Given the description of an element on the screen output the (x, y) to click on. 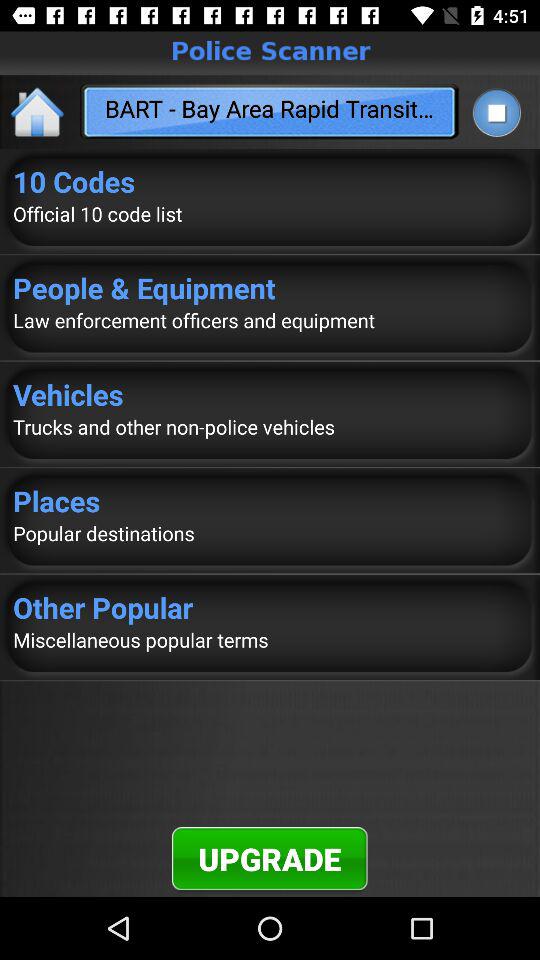
go home (38, 111)
